Given the description of an element on the screen output the (x, y) to click on. 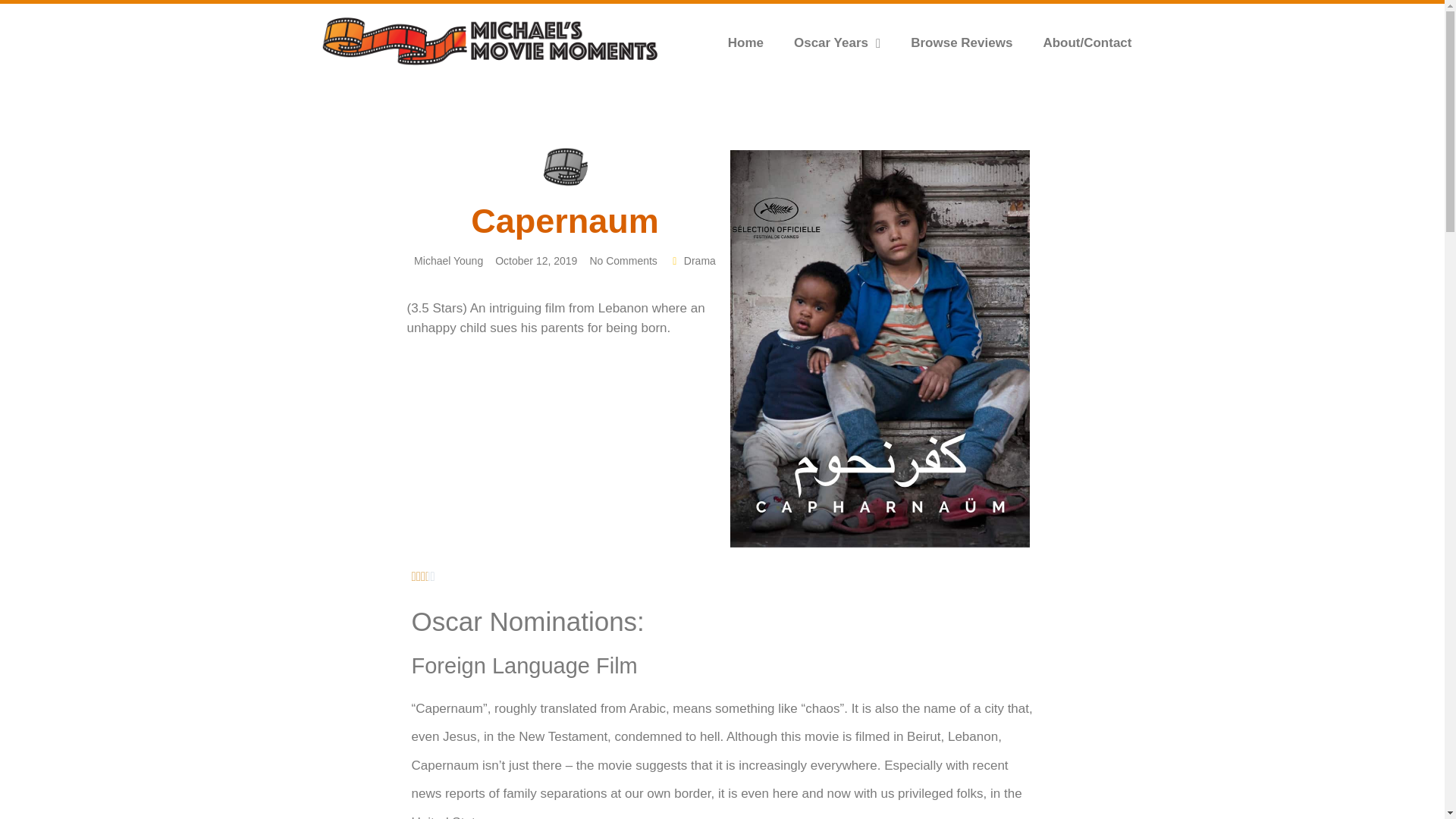
Browse Reviews (961, 42)
Home (745, 42)
Oscar Years (836, 42)
